Given the description of an element on the screen output the (x, y) to click on. 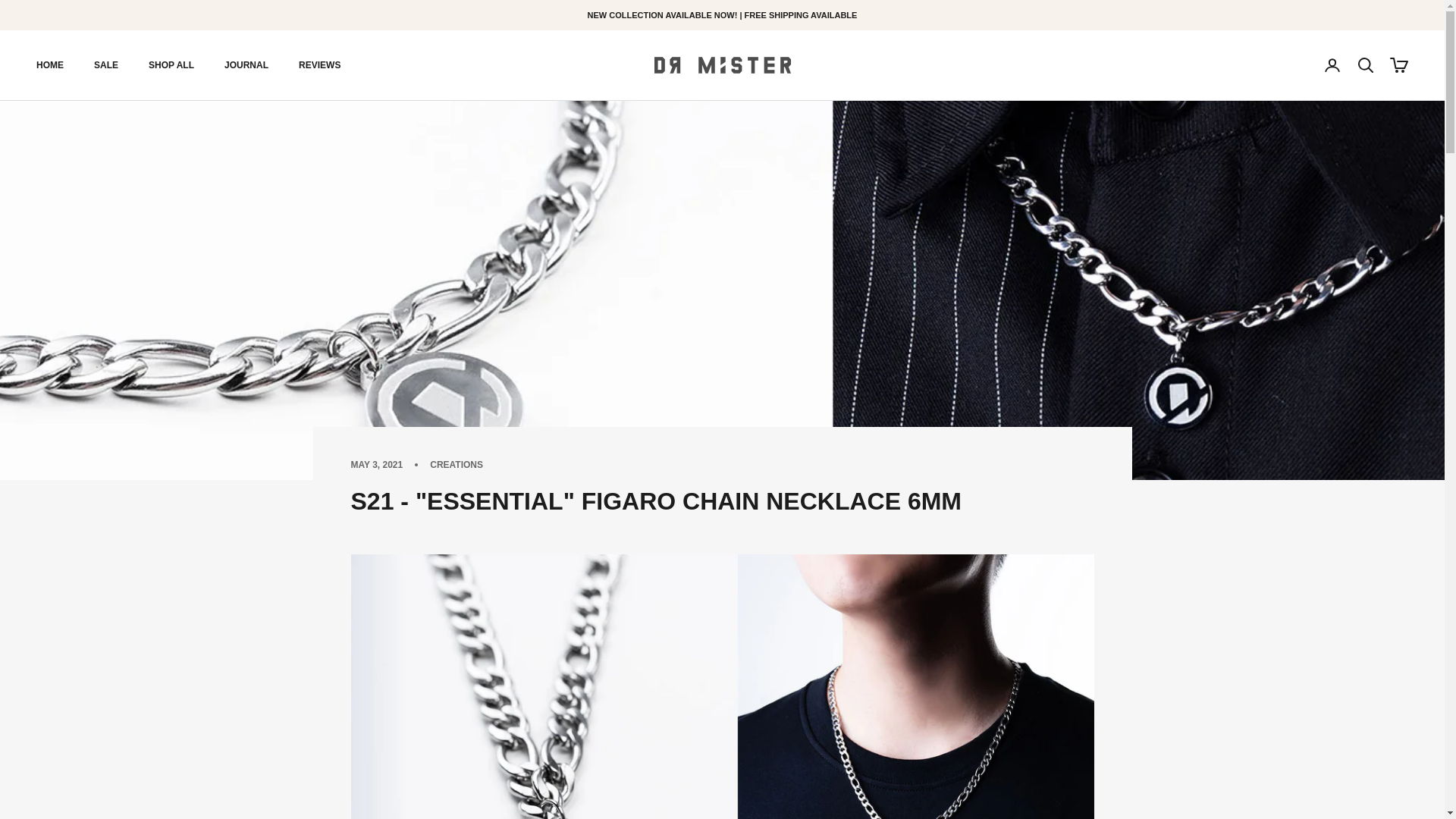
Dr Mister (721, 65)
Open cart (1398, 65)
HOME (50, 64)
REVIEWS (319, 64)
SALE (105, 64)
Open search (1365, 65)
JOURNAL (245, 64)
Open account page (1331, 65)
